Given the description of an element on the screen output the (x, y) to click on. 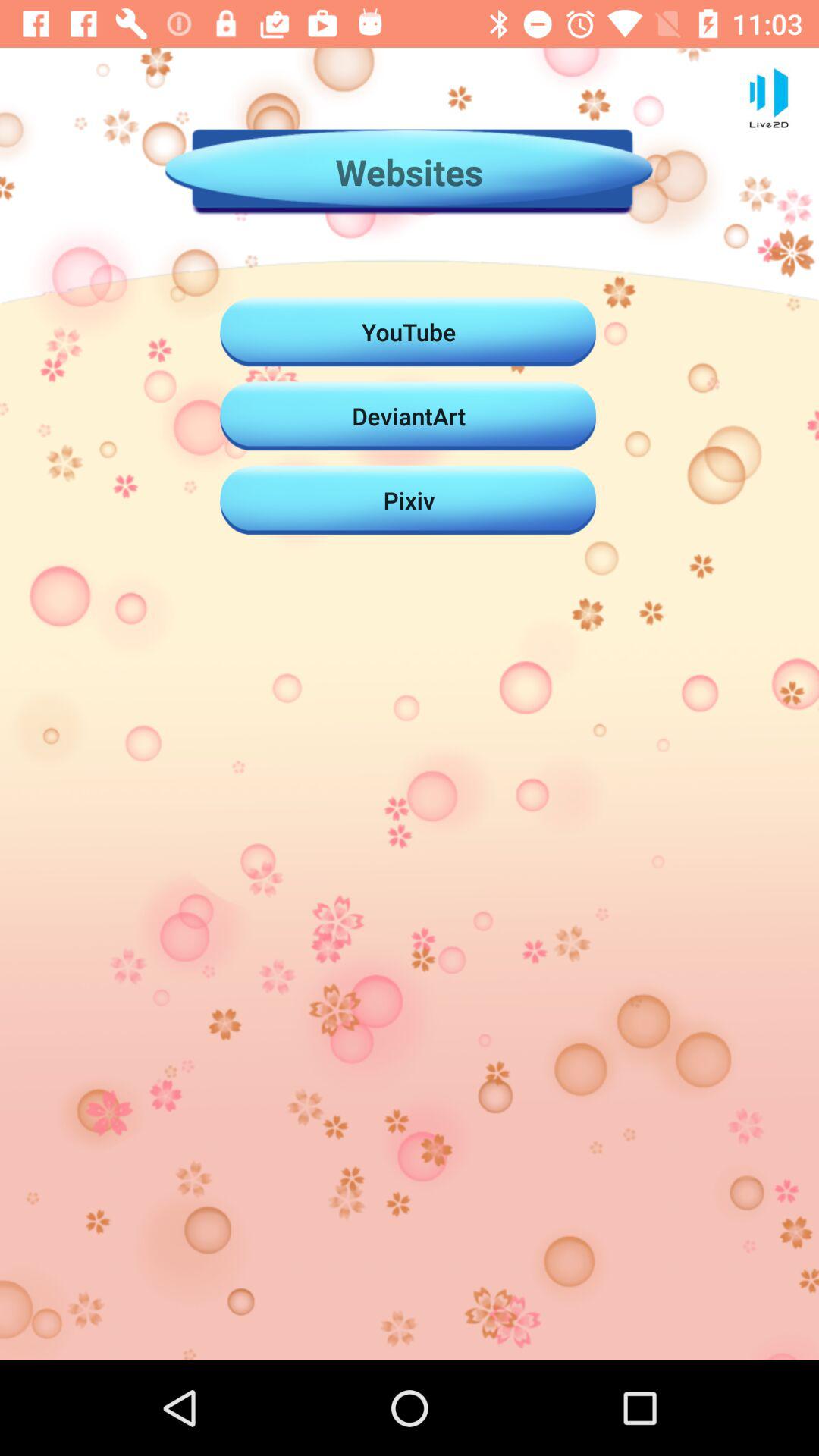
choose the pixiv item (409, 500)
